Given the description of an element on the screen output the (x, y) to click on. 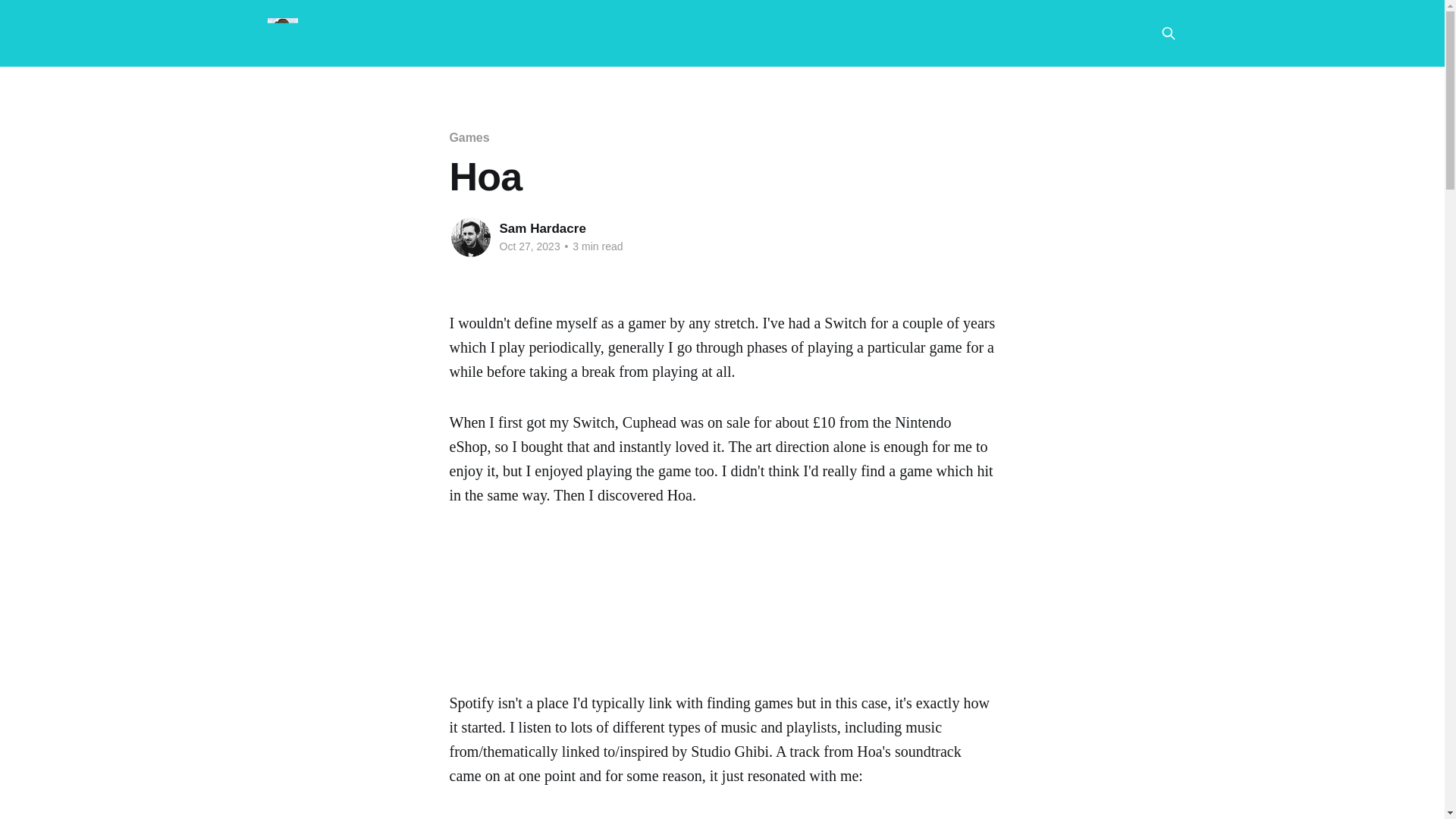
Sam Hardacre (542, 228)
Hoa - Announcement Trailer (721, 598)
Games (468, 137)
